Given the description of an element on the screen output the (x, y) to click on. 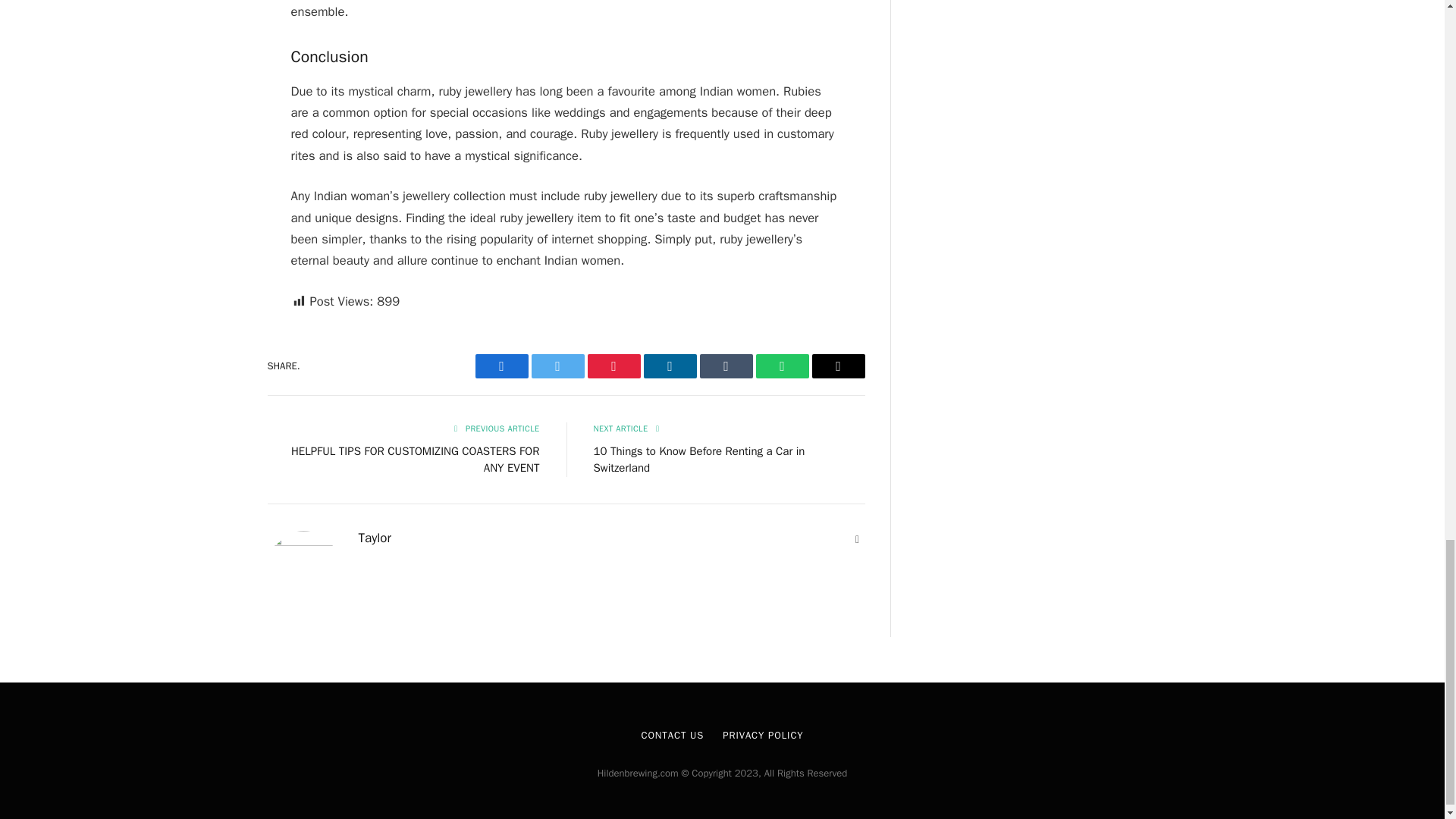
Facebook (500, 365)
